Given the description of an element on the screen output the (x, y) to click on. 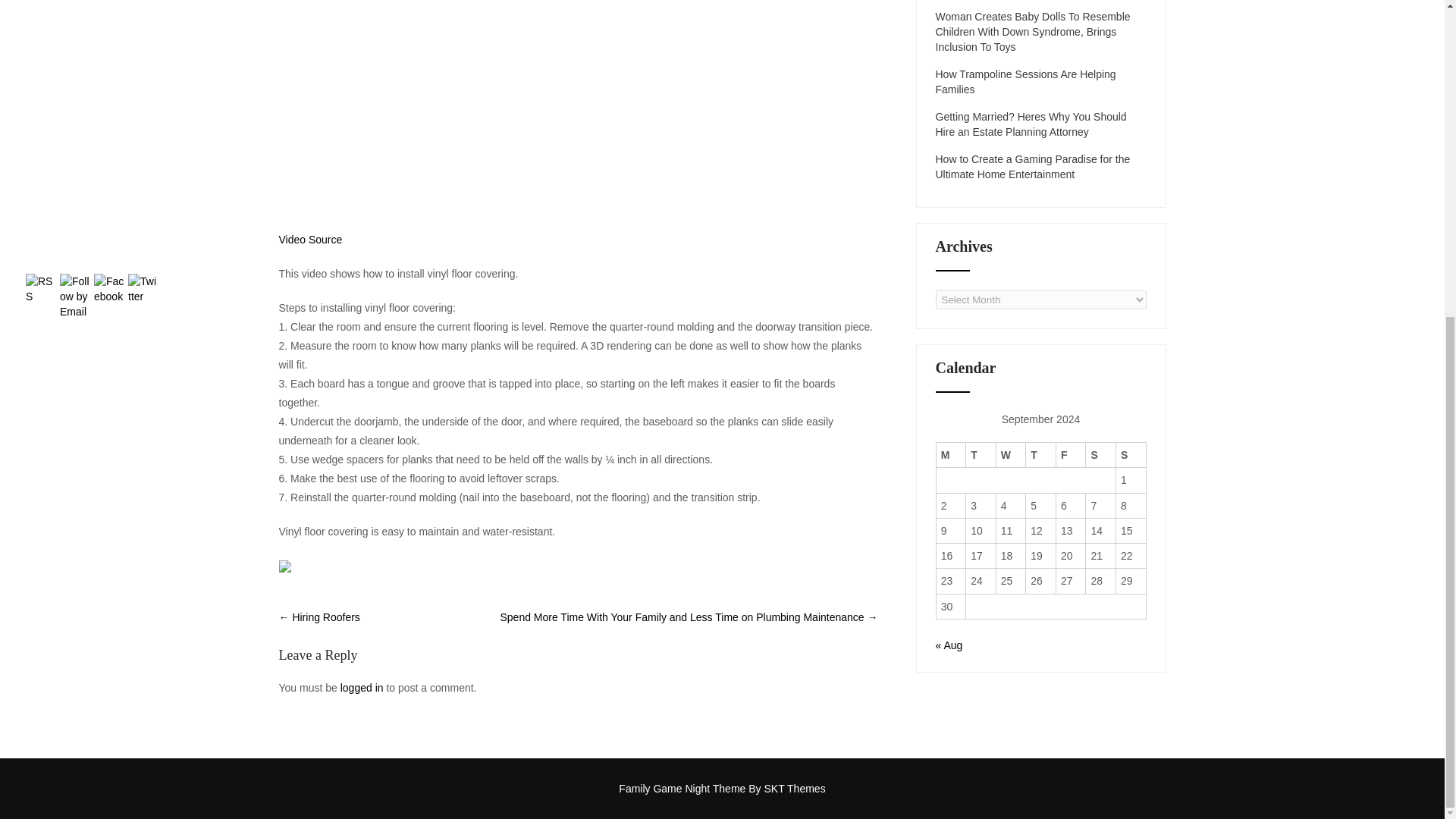
Wednesday (1010, 455)
Facebook (108, 288)
Thursday (1041, 455)
logged in (362, 687)
RSS (41, 288)
Monday (951, 455)
How Trampoline Sessions Are Helping Families (1041, 81)
Tuesday (980, 455)
Sunday (1131, 455)
